Given the description of an element on the screen output the (x, y) to click on. 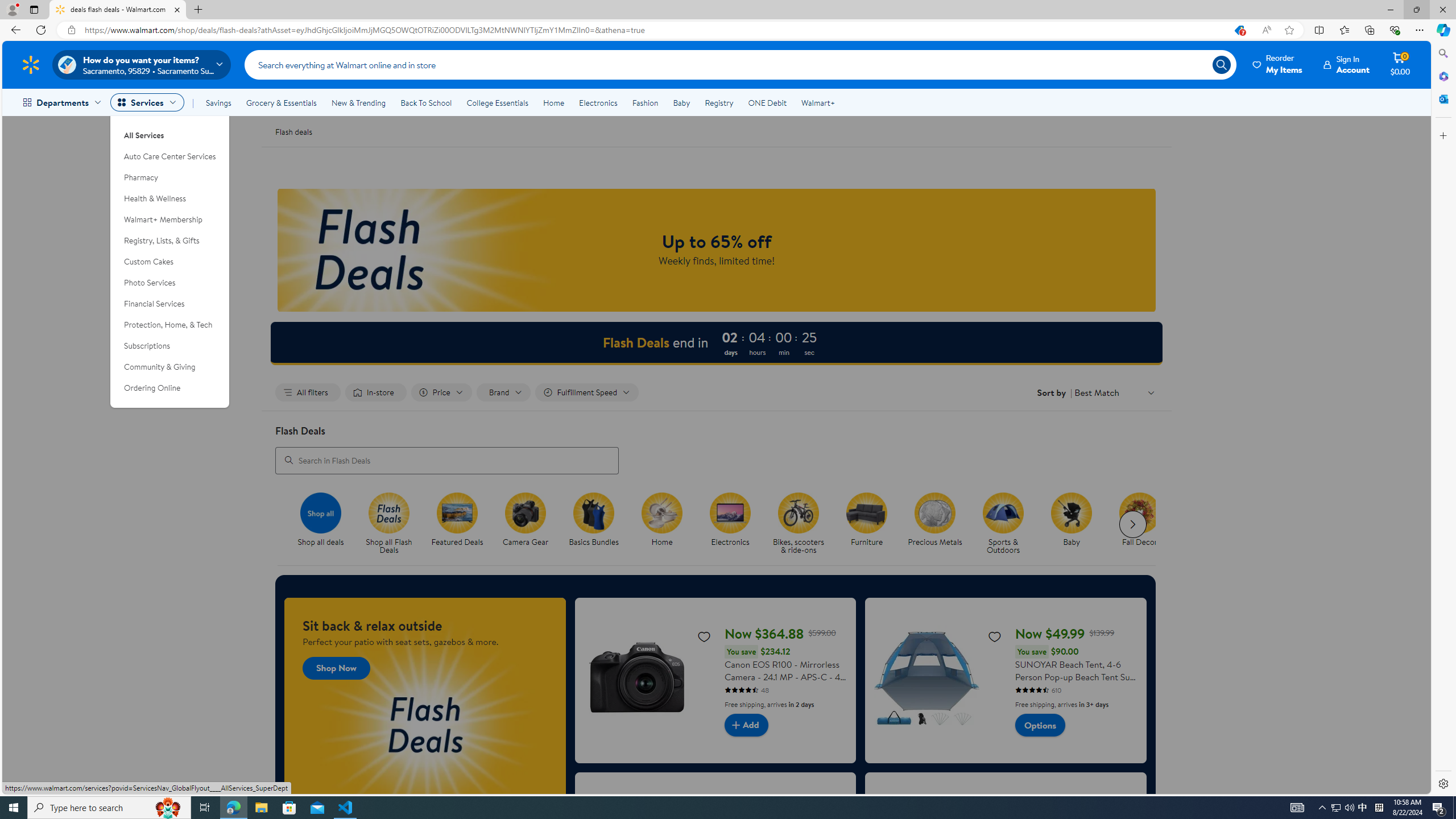
Precious Metals Precious Metals (934, 519)
Shop Now (335, 667)
Photo Services (170, 282)
Reorder My Items (1277, 64)
Next slide for chipModuleWithImages list (1133, 524)
Fashion (644, 102)
Back To School (425, 102)
All Services (170, 130)
